Given the description of an element on the screen output the (x, y) to click on. 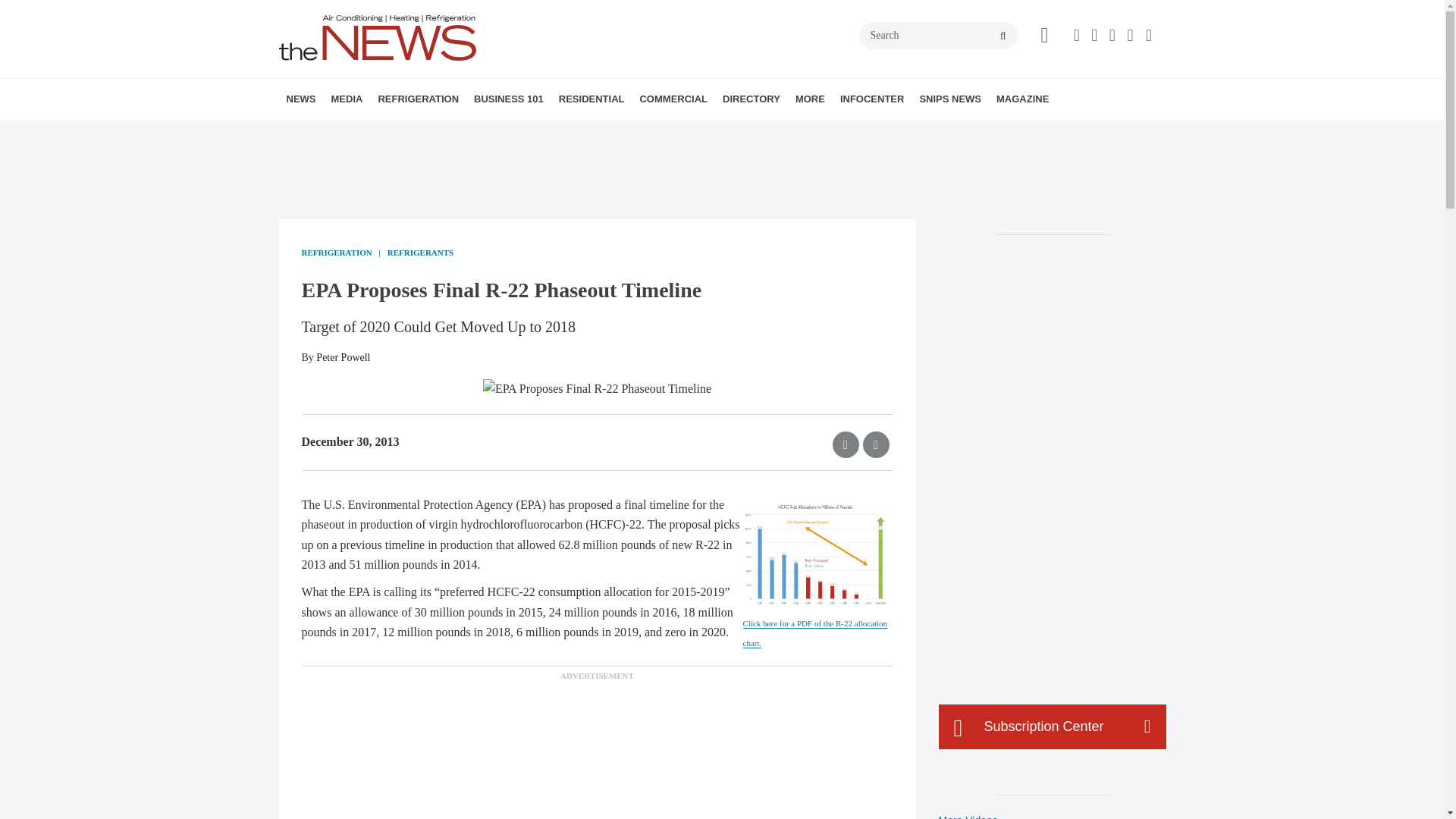
DUCTWORD PUZZLE (449, 132)
ONLINE POLL (452, 132)
THE NEWS HVACR QUIZ (445, 132)
Search (938, 35)
FROSTLINES (478, 132)
EBOOKS (442, 132)
BREAKING NEWS (373, 132)
MANUFACTURER REPORTS (386, 132)
REFRIGERANTS (464, 132)
NEW HVAC PRODUCTS (380, 132)
